Given the description of an element on the screen output the (x, y) to click on. 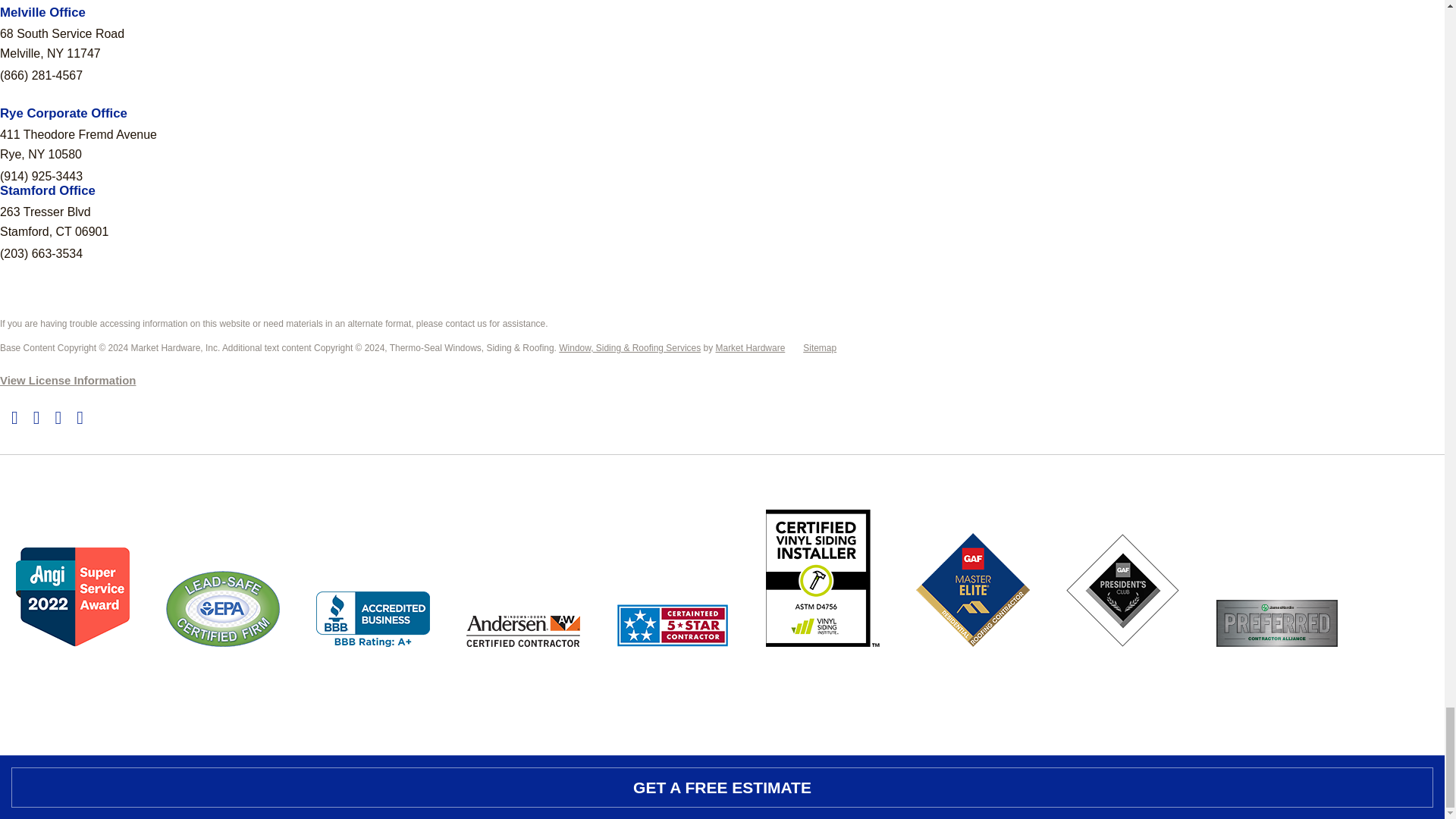
Local Pros page on the CertainTeed website (672, 656)
